Given the description of an element on the screen output the (x, y) to click on. 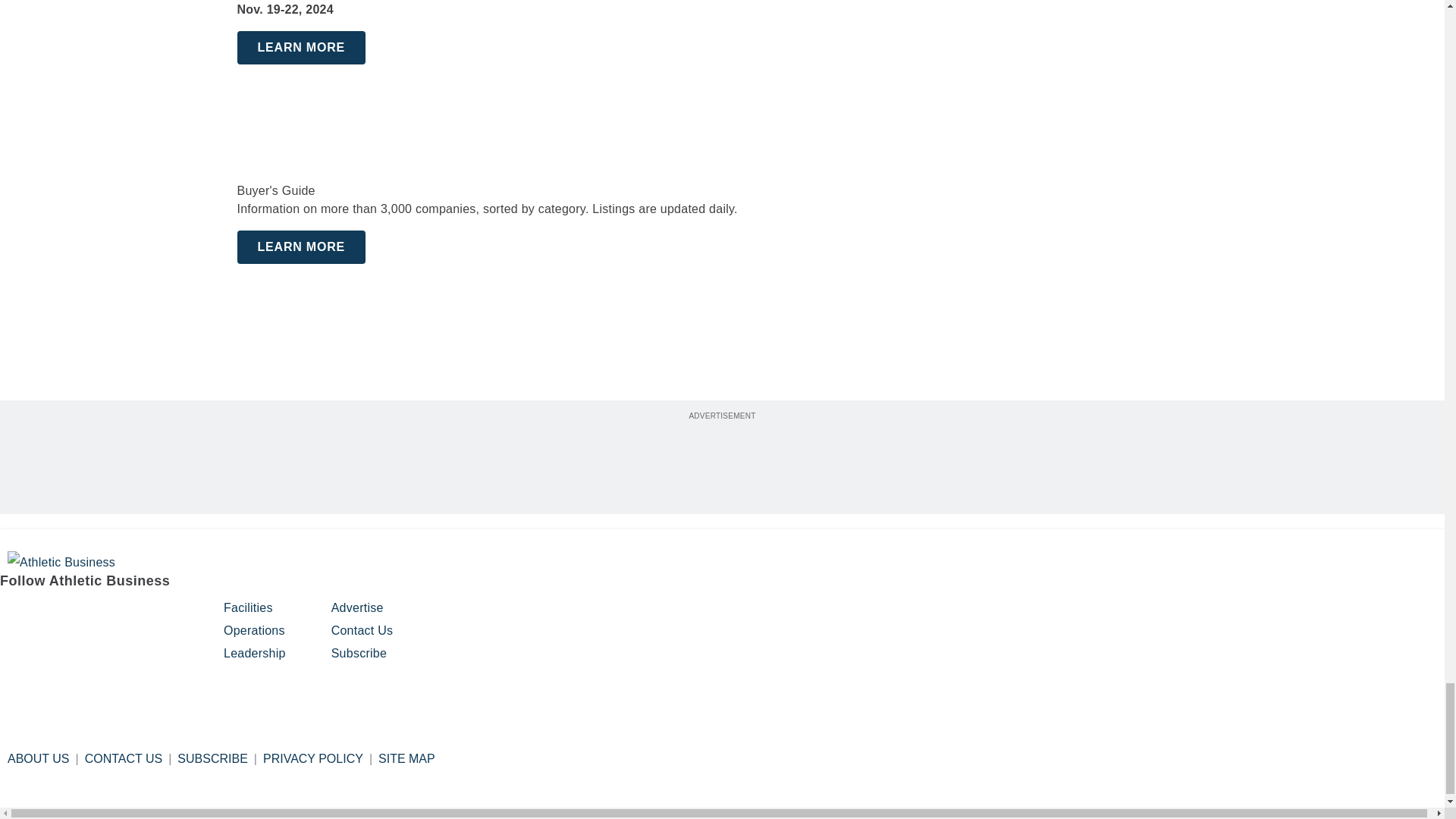
LinkedIn icon (90, 614)
Instagram icon (52, 614)
Facebook icon (13, 614)
YouTube icon (129, 614)
Twitter X icon (168, 614)
